Given the description of an element on the screen output the (x, y) to click on. 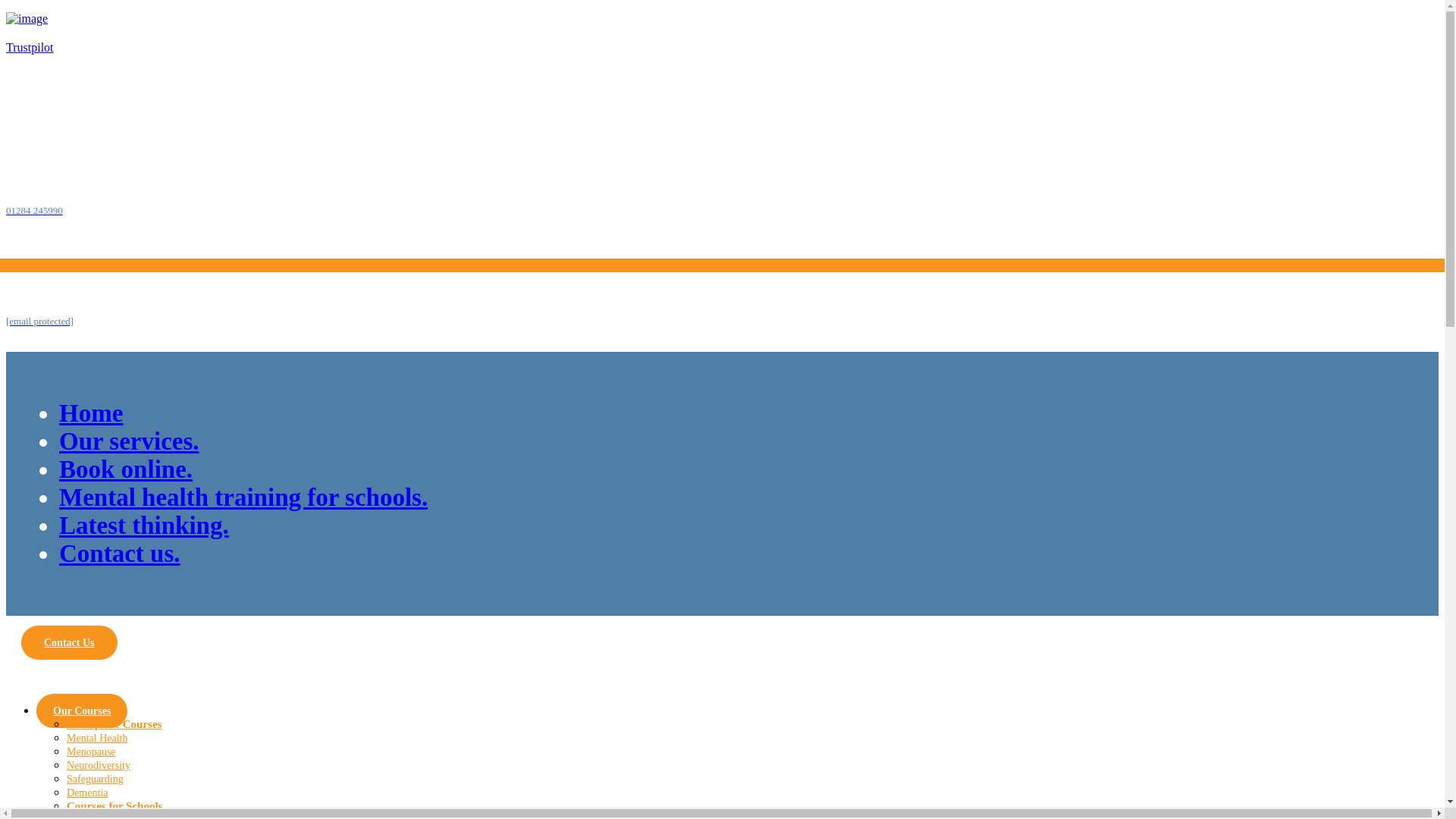
Mental Health Training for Schools (141, 816)
Contact us. (119, 553)
Contact Us (69, 642)
Dementia (86, 792)
Our Courses (82, 710)
Book online. (125, 469)
Workplace Courses (113, 724)
Meantal Health Training Specialists (94, 114)
01284 245990 (33, 209)
Safeguarding (94, 778)
Latest thinking. (143, 524)
Mental Health (97, 737)
Home (90, 412)
Neurodiversity (98, 765)
Our services. (129, 441)
